Given the description of an element on the screen output the (x, y) to click on. 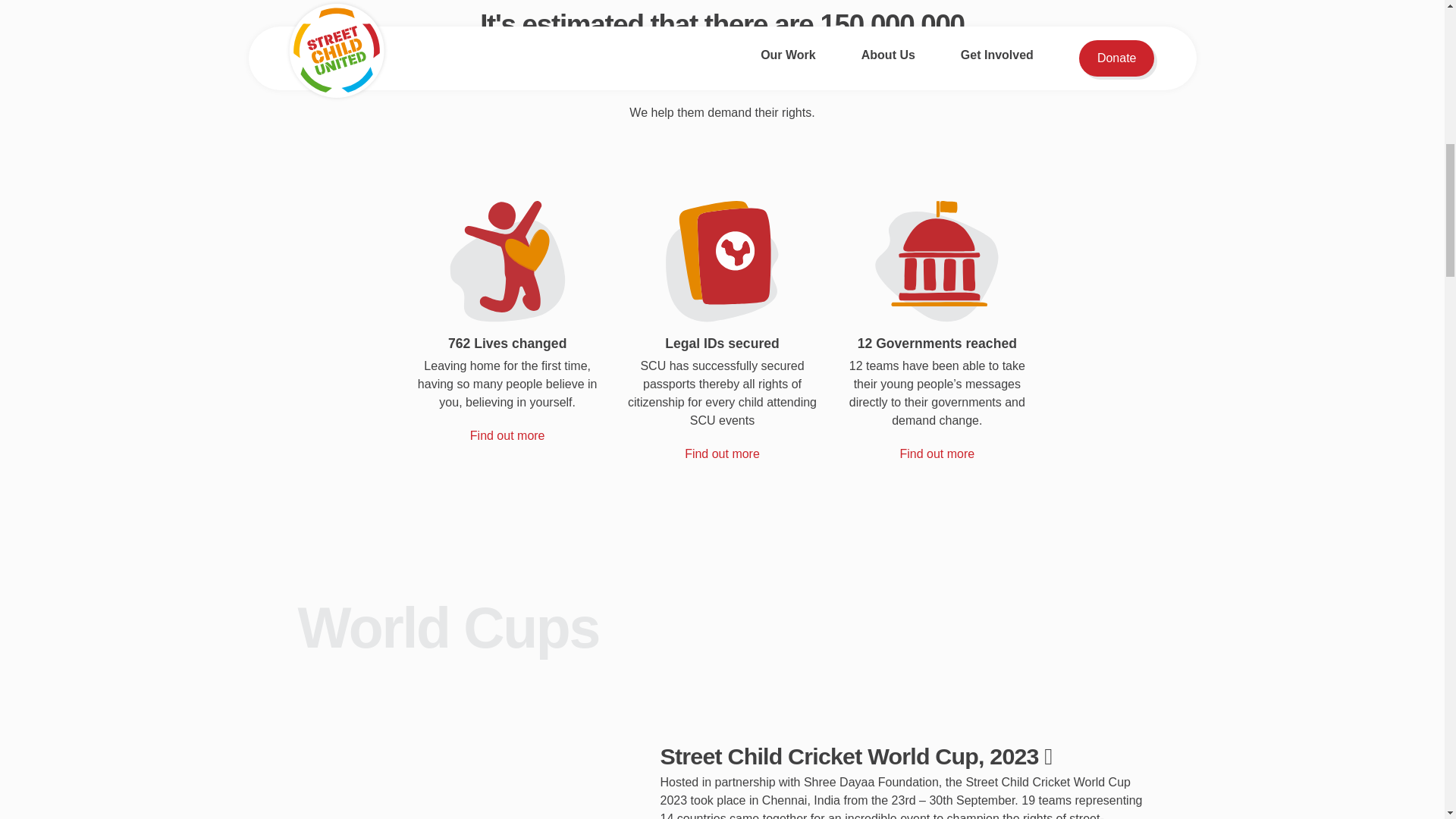
Find out more (507, 435)
Find out more (722, 453)
Find out more (936, 453)
